Given the description of an element on the screen output the (x, y) to click on. 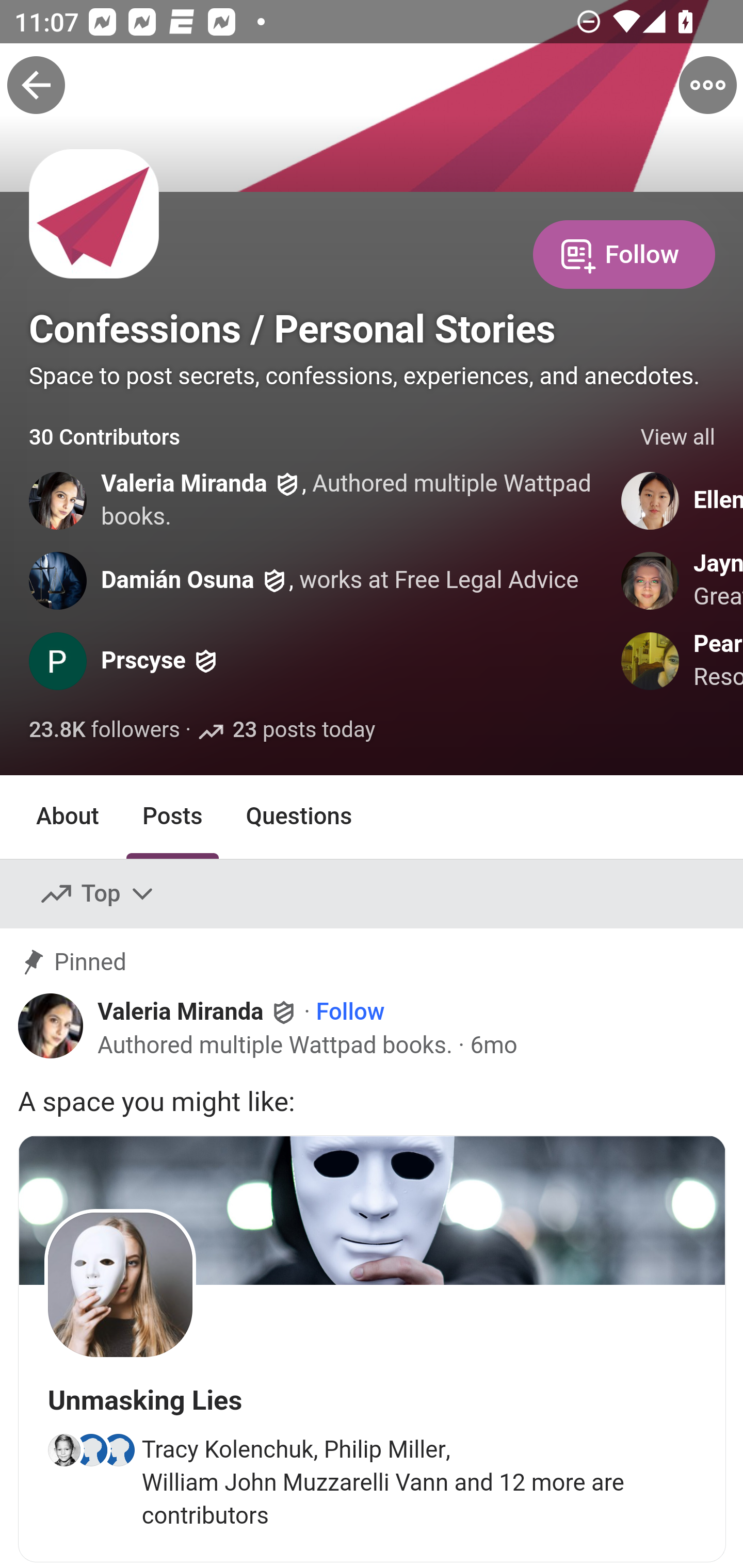
Follow (623, 252)
Confessions / Personal Stories (292, 329)
View all (677, 437)
Valeria Miranda (184, 484)
Profile photo for Valeria Miranda (58, 499)
Profile photo for Ellen Park (650, 499)
Profile photo for Damián Osuna (58, 579)
Profile photo for Jayne Fox (650, 579)
Damián Osuna (177, 579)
Profile photo for Prscyse (58, 661)
Profile photo for Pearl Lederman (650, 661)
Prscyse (143, 660)
23.8K followers (104, 731)
About (68, 816)
Posts (171, 816)
Questions (299, 816)
Top (97, 894)
Profile photo for Valeria Miranda (50, 1025)
Valeria Miranda Valeria Miranda   (198, 1010)
Follow (350, 1011)
# (371, 1349)
Icon for Unmasking Lies (119, 1284)
Profile photo for Tracy Kolenchuk (63, 1450)
Profile photo for Philip Miller (90, 1450)
Profile photo for William John Muzzarelli Vann (118, 1450)
